Given the description of an element on the screen output the (x, y) to click on. 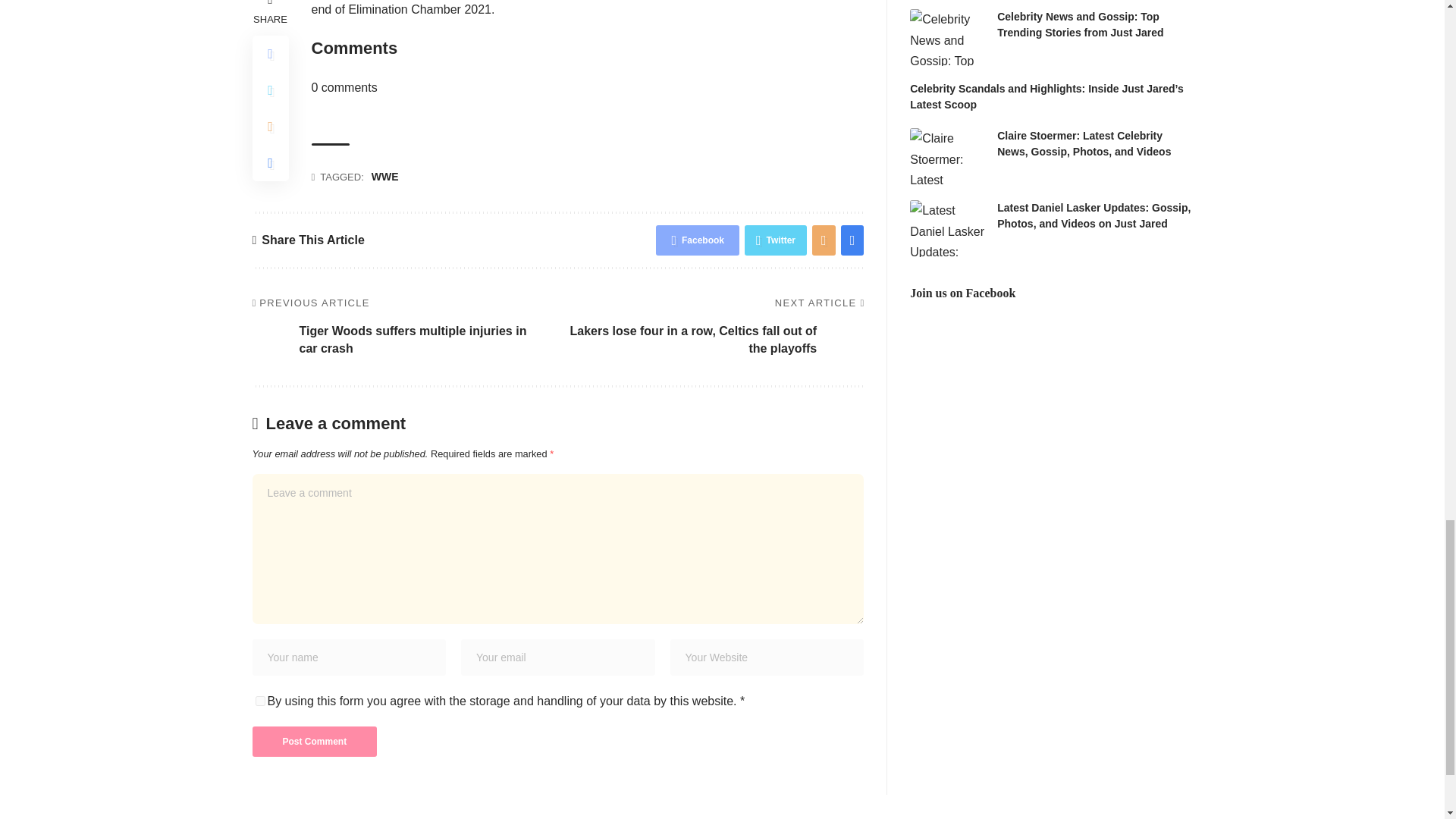
Post Comment (314, 741)
